Given the description of an element on the screen output the (x, y) to click on. 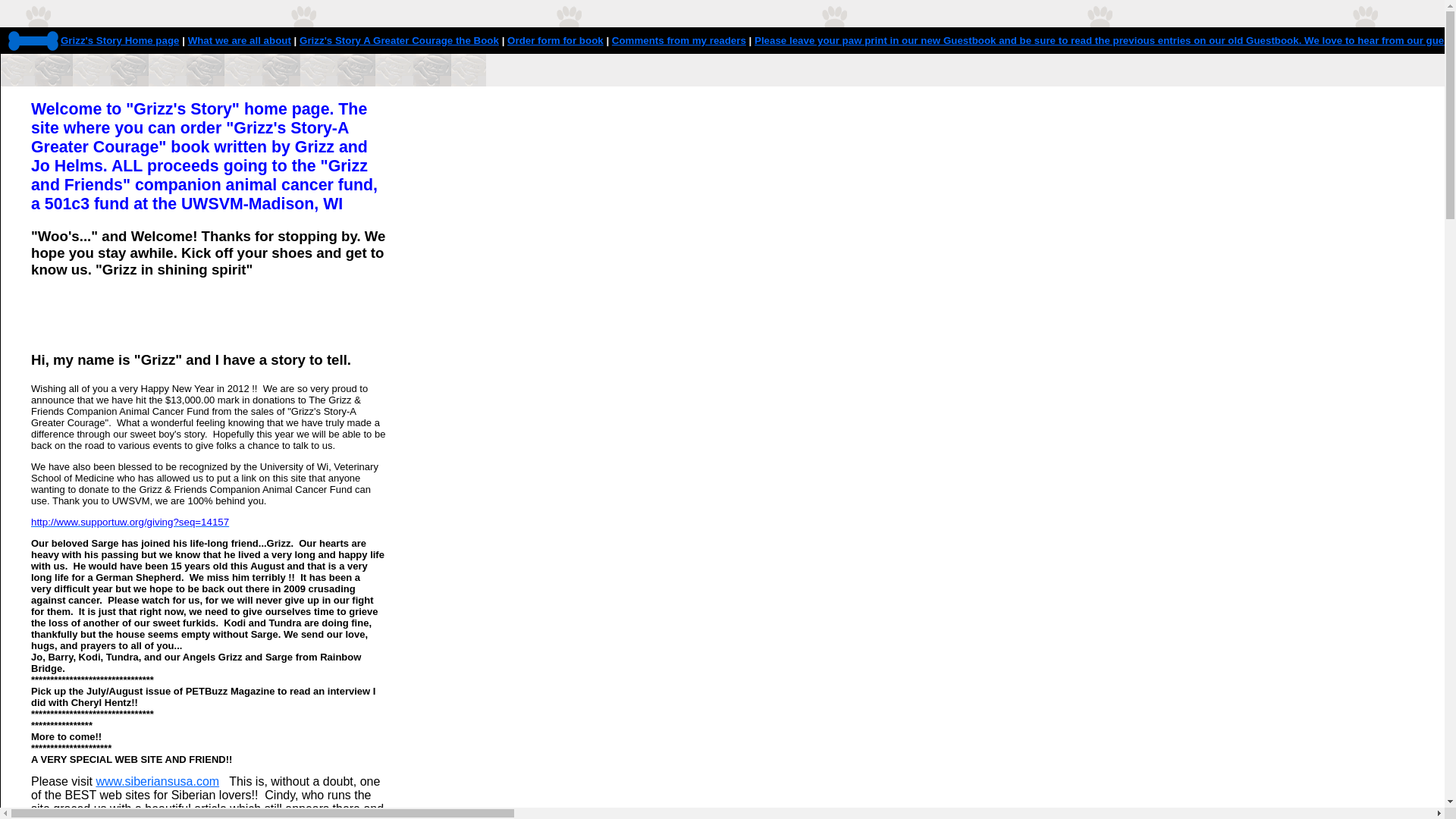
What we are all about Element type: text (239, 40)
Order form for book Element type: text (555, 40)
www.siberiansusa.com Element type: text (157, 781)
Comments from my readers Element type: text (678, 40)
Grizz's Story Home page Element type: text (119, 40)
http://www.supportuw.org/giving?seq=14157 Element type: text (130, 520)
Grizz's Story A Greater Courage the Book Element type: text (398, 40)
